Given the description of an element on the screen output the (x, y) to click on. 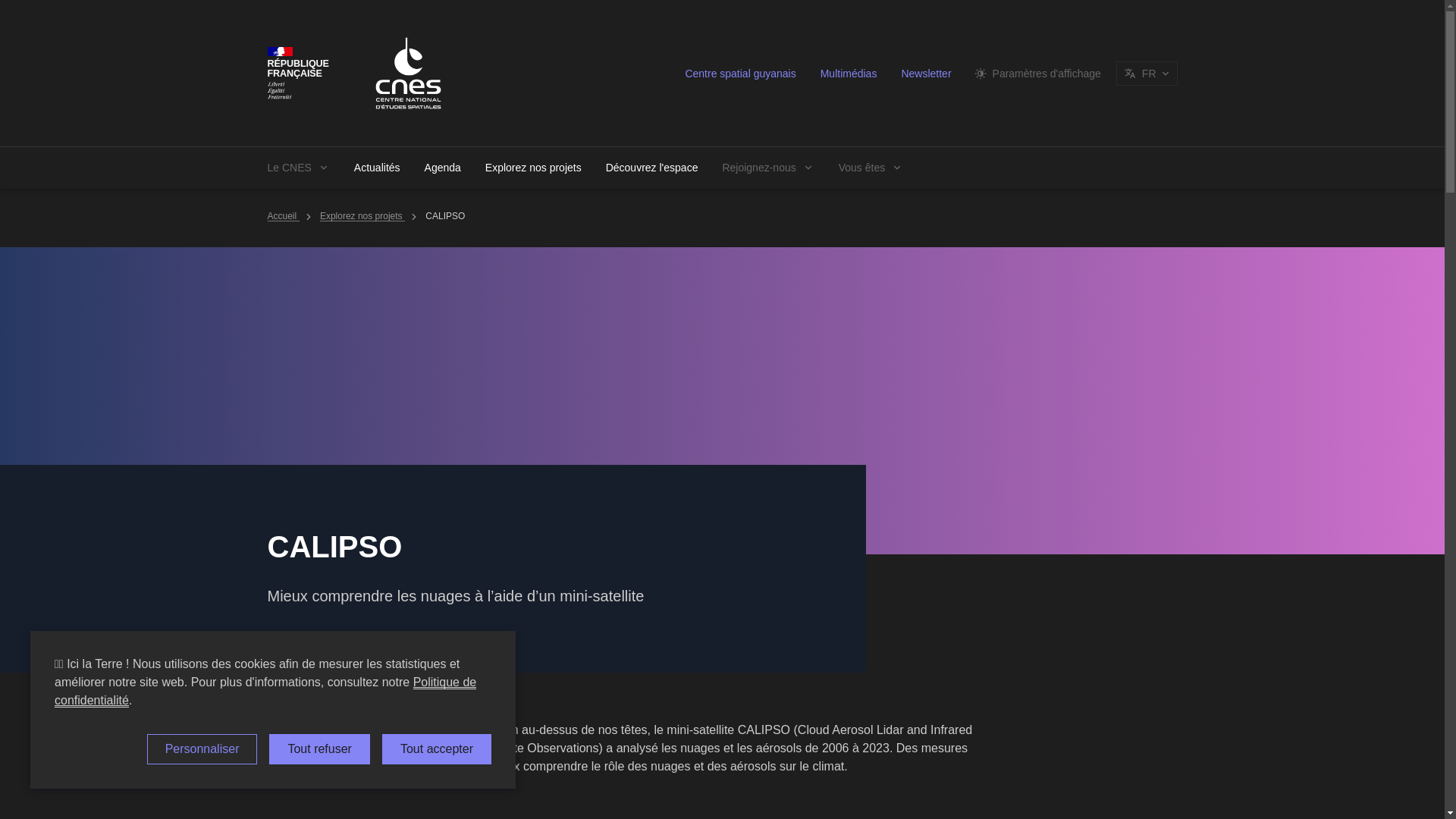
Accueil (282, 215)
Newsletter (925, 72)
Tout accepter (436, 748)
Rejoignez-nous (767, 167)
Personnaliser (202, 748)
Logo CNES (408, 72)
Tout refuser (319, 748)
Centre spatial guyanais (740, 72)
Explorez nos projets (362, 215)
Le CNES (297, 167)
